Given the description of an element on the screen output the (x, y) to click on. 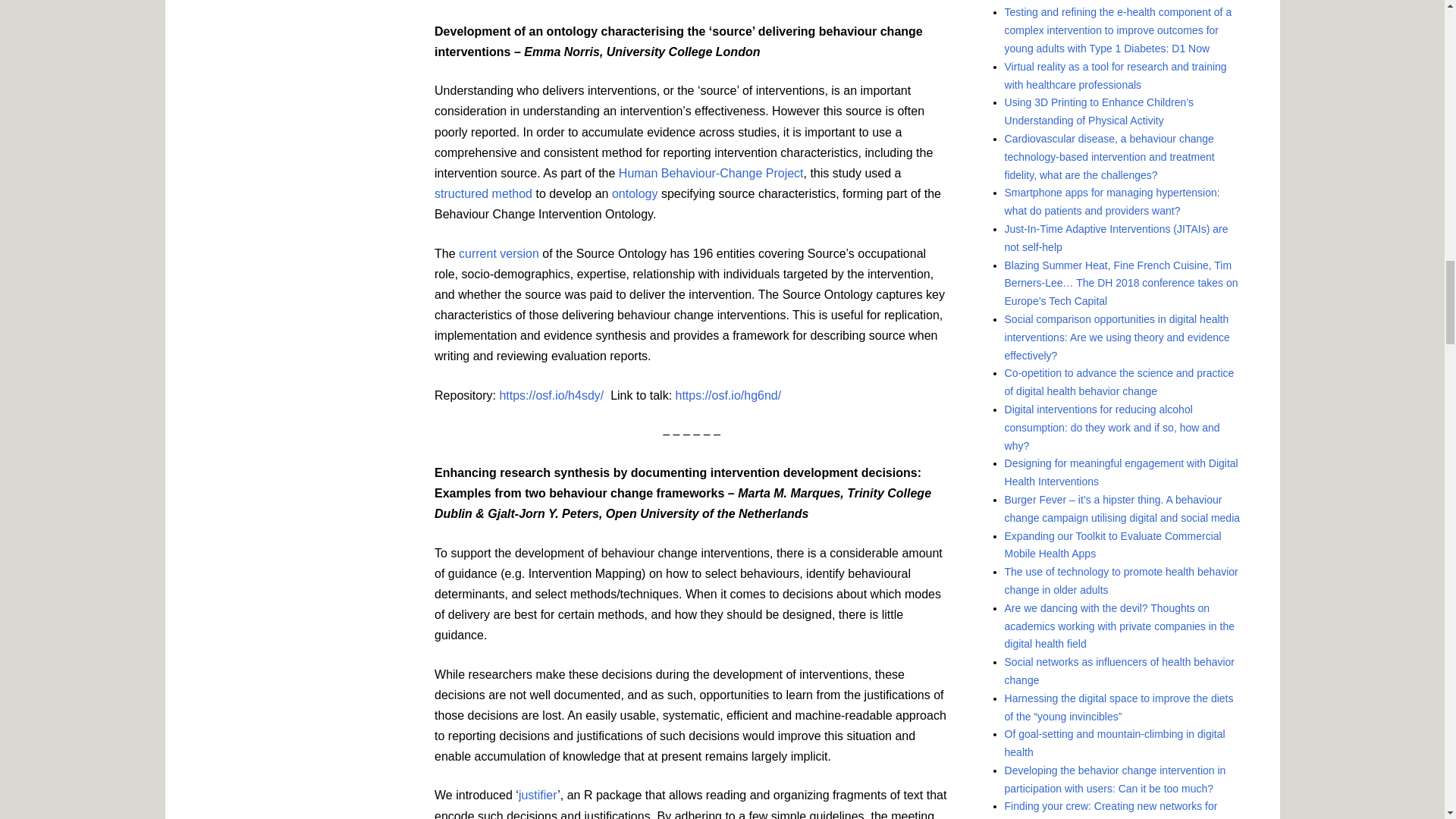
Human Behaviour-Change Project (708, 173)
ontology (633, 193)
justifier (537, 794)
structured method (482, 193)
current version (496, 253)
